Given the description of an element on the screen output the (x, y) to click on. 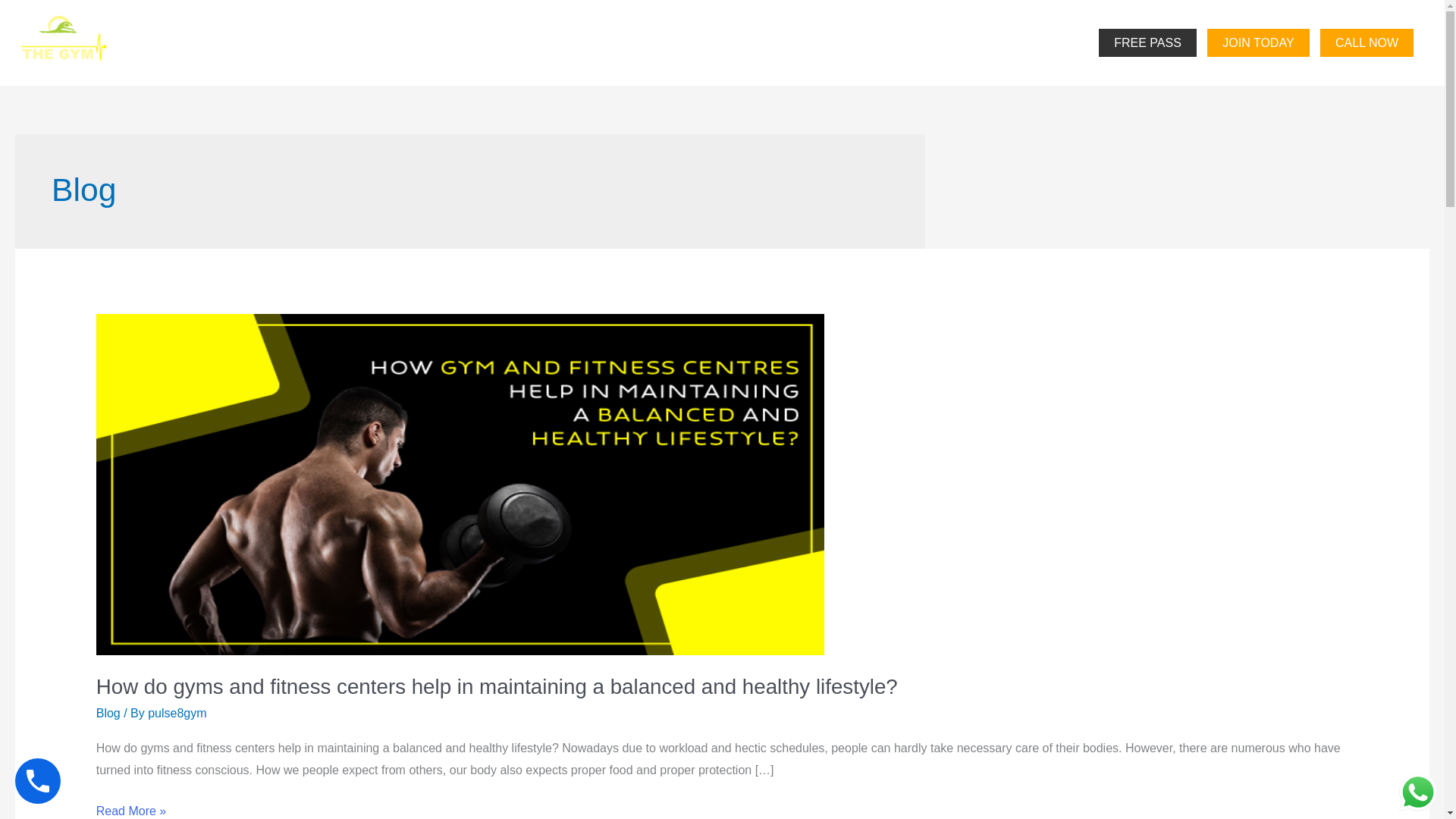
CAREERS (871, 42)
Blog (108, 712)
JOIN TODAY (1257, 42)
CALL NOW (1366, 42)
FREE PASS (1147, 42)
View all posts by pulse8gym (177, 712)
pulse8gym (177, 712)
BRANCHES (773, 42)
GALLERY (965, 42)
ABOUT US (668, 42)
